Given the description of an element on the screen output the (x, y) to click on. 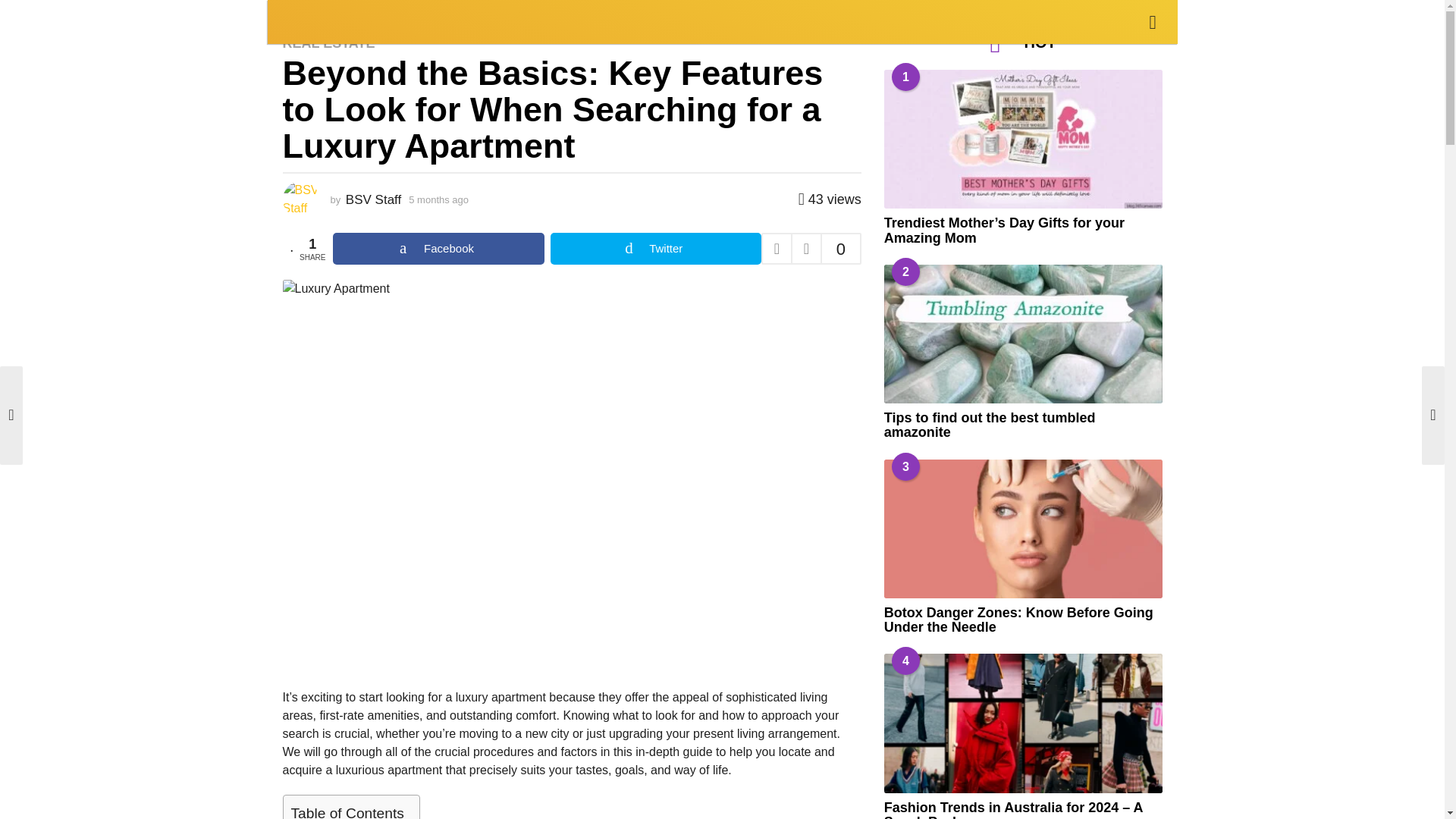
BSV Staff (373, 199)
REAL ESTATE (369, 19)
Twitter (655, 248)
Facebook (438, 248)
Share on Facebook (438, 248)
HOME (298, 19)
Share on Twitter (655, 248)
REAL ESTATE (328, 43)
